Given the description of an element on the screen output the (x, y) to click on. 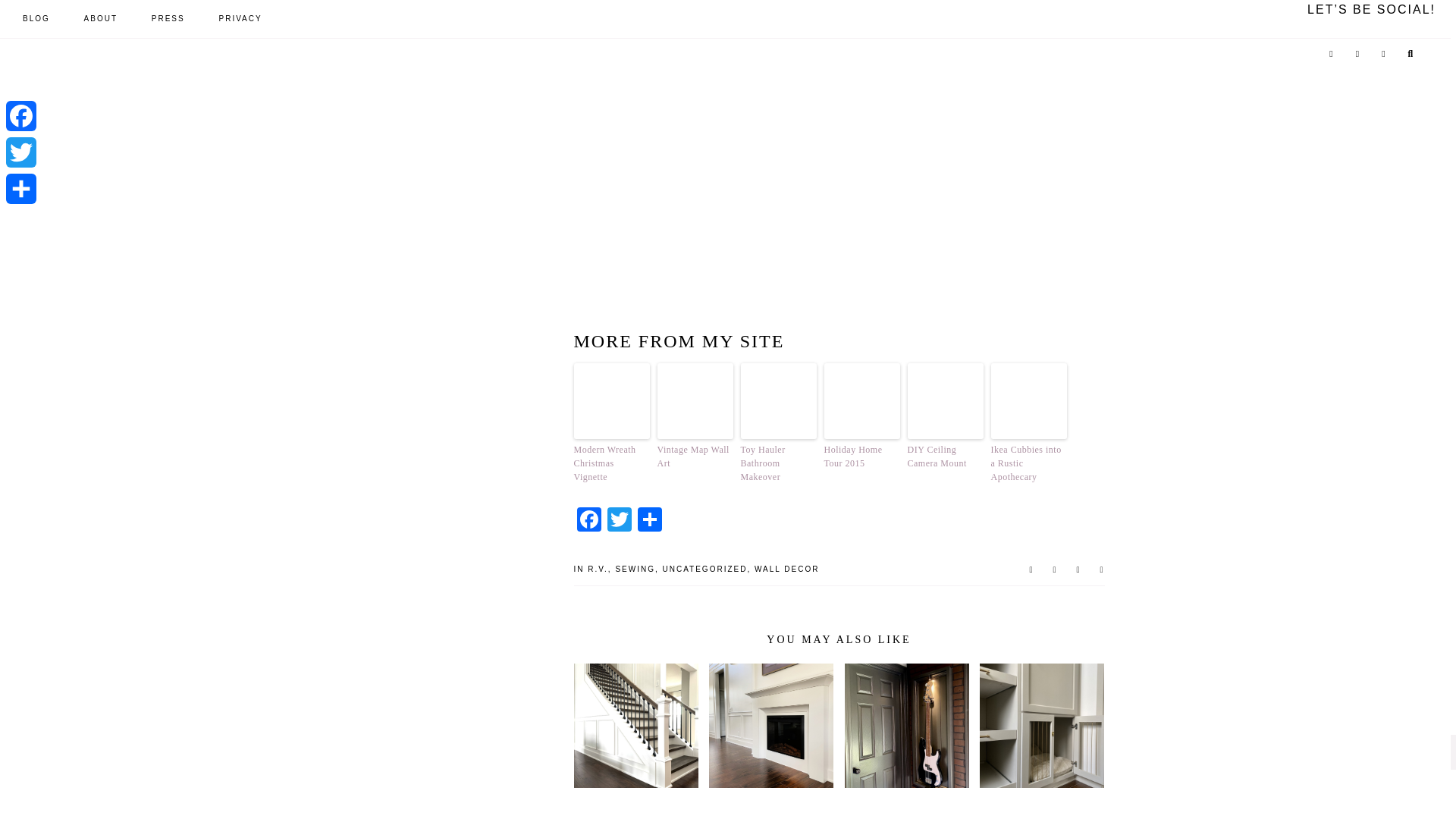
Guitar Display Case (906, 725)
Twitter (618, 520)
Convert Cabinet to Dog Crate (1041, 725)
Building a Mantle (770, 725)
Stair Tread Makeover (635, 725)
Facebook (588, 520)
